Given the description of an element on the screen output the (x, y) to click on. 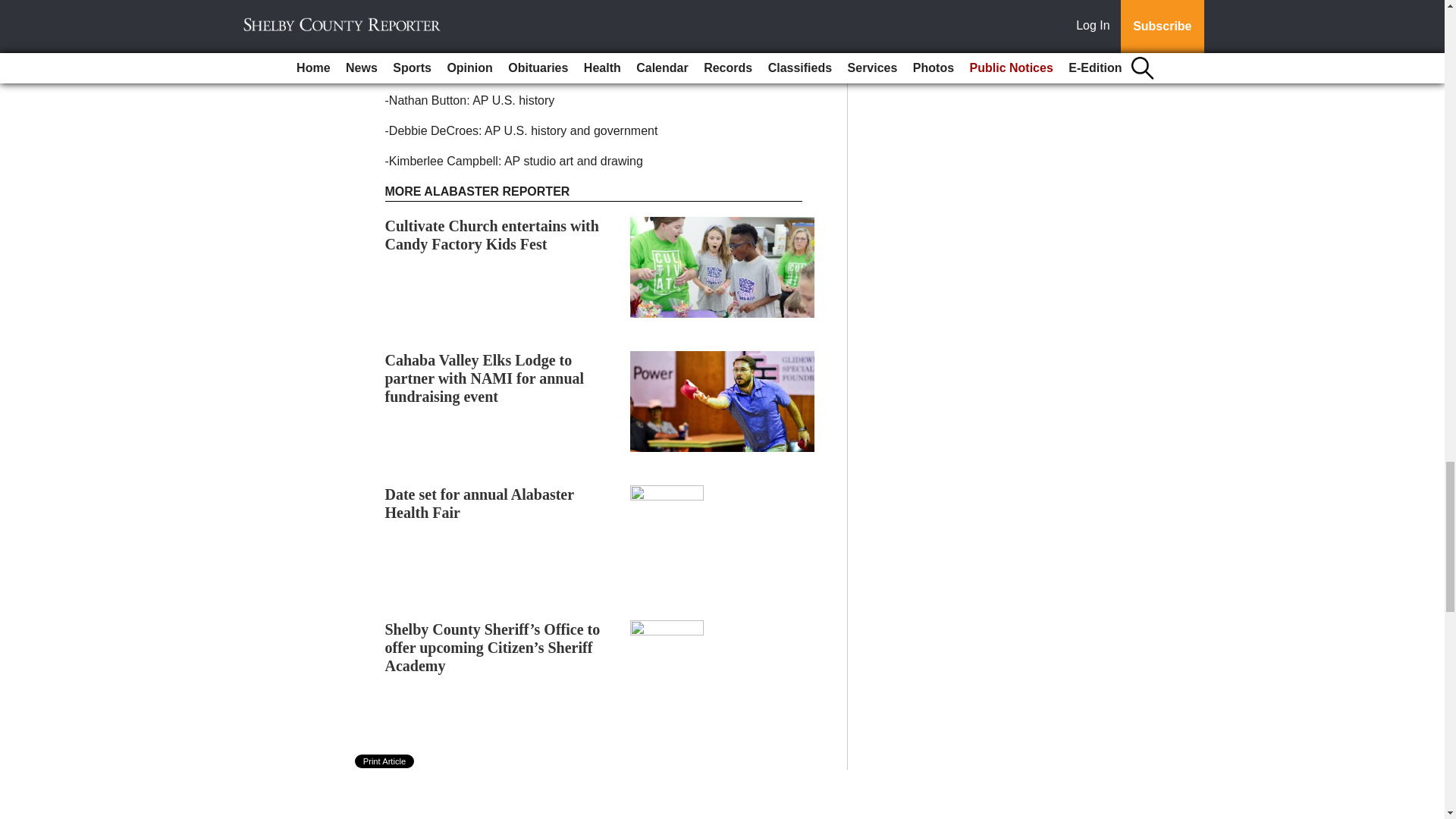
Date set for annual Alabaster Health Fair (479, 503)
Cultivate Church entertains with Candy Factory Kids Fest (491, 234)
